Given the description of an element on the screen output the (x, y) to click on. 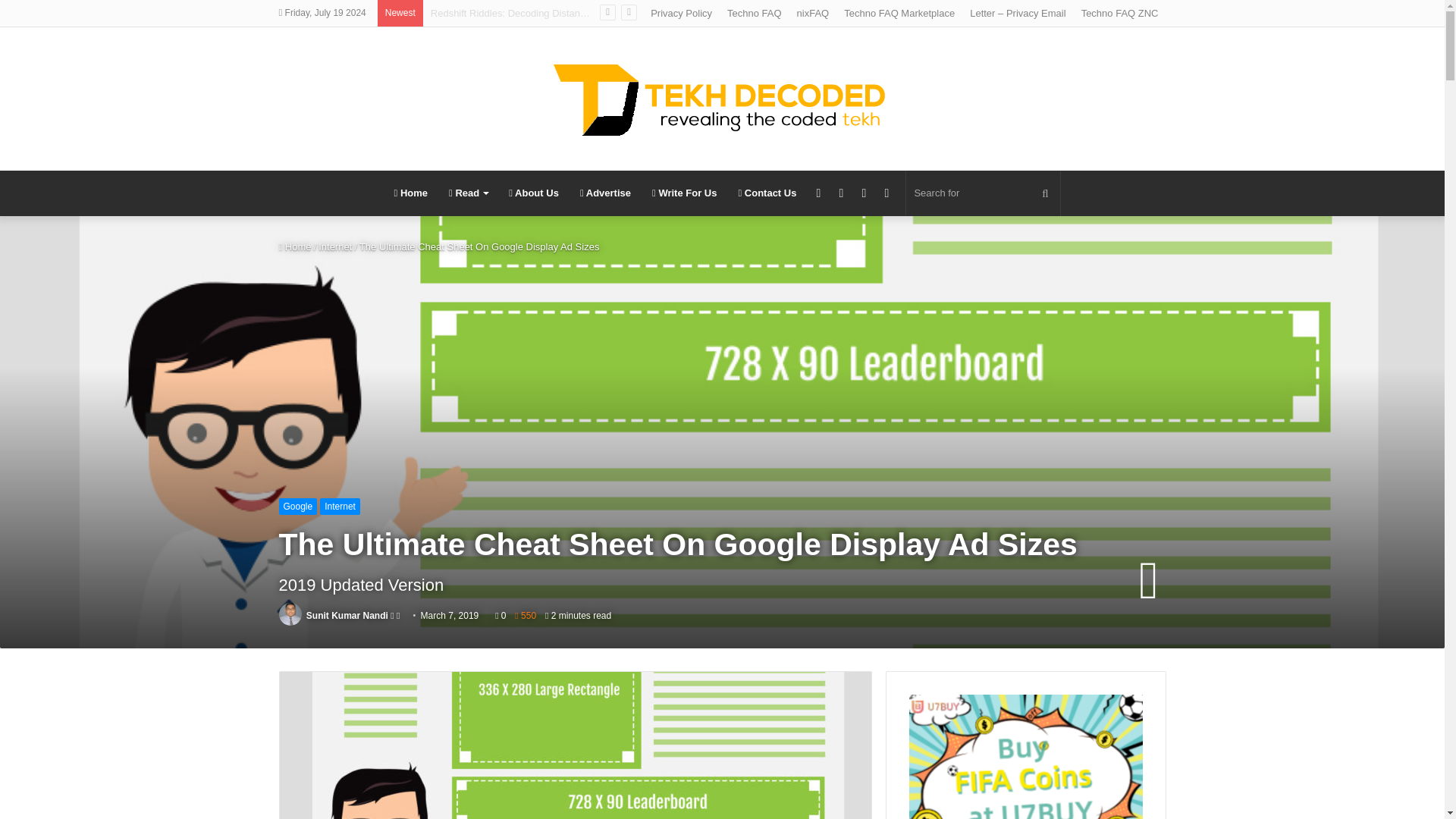
Sunit Kumar Nandi (346, 615)
Sunit Kumar Nandi (346, 615)
Techno FAQ (754, 13)
Read (467, 193)
Internet (339, 506)
Write For Us (684, 193)
Contact Us (766, 193)
Techno FAQ Marketplace (898, 13)
nixFAQ (813, 13)
Google (298, 506)
Tekh Decoded (722, 98)
Redshift Riddles: Decoding Distance With Space Telescopes (562, 12)
Home (295, 246)
Techno FAQ ZNC (1120, 13)
Privacy Policy (681, 13)
